Given the description of an element on the screen output the (x, y) to click on. 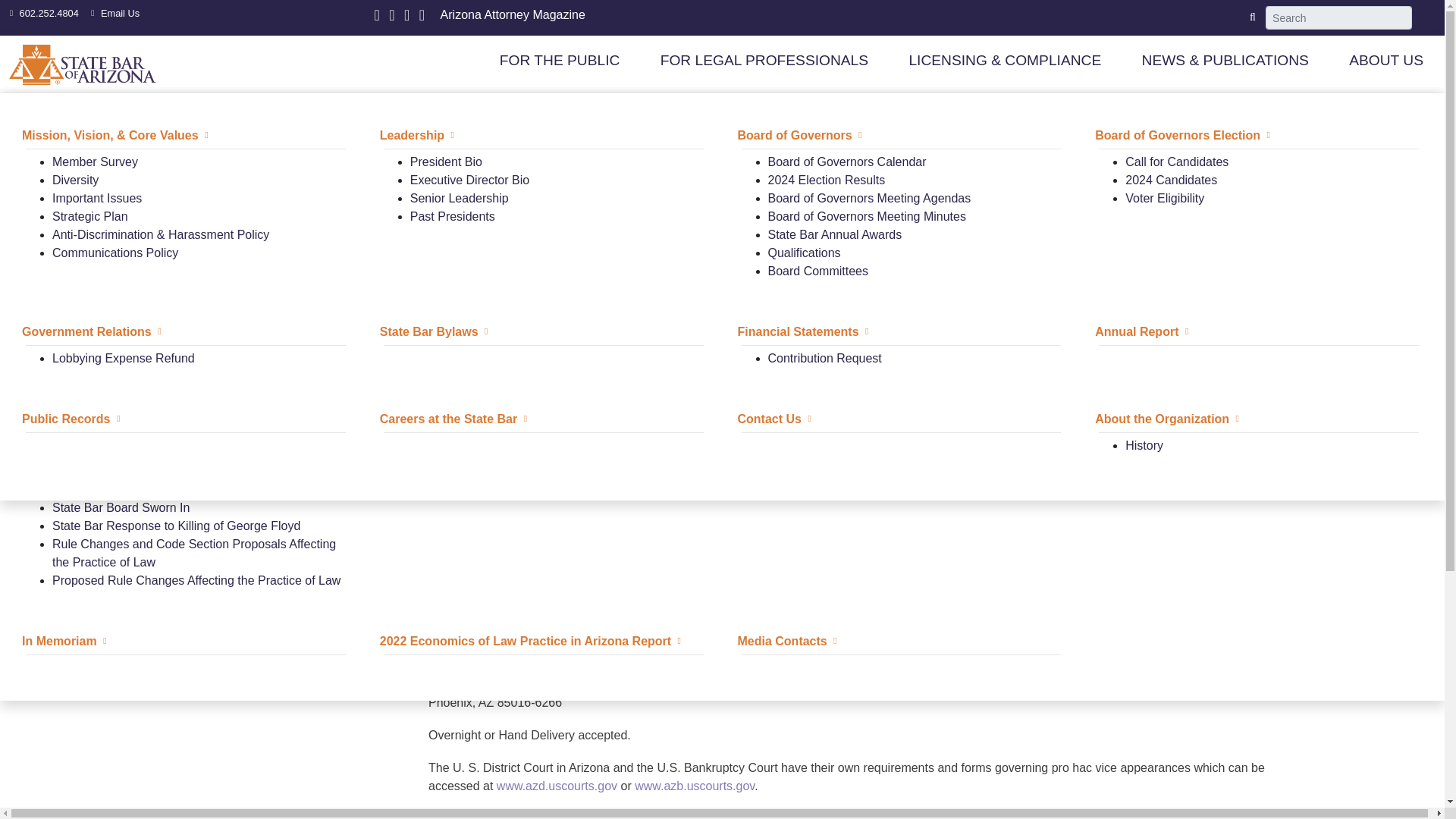
Check Lawyer Discipline (475, 161)
Public Meetings Policy (827, 161)
Modest Means (92, 215)
Public Service Center (88, 134)
FAQs (67, 307)
Client Protection Fund (1164, 134)
Arizona Attorney Magazine (513, 14)
Public Meetings Calendar (836, 197)
Charge Form (445, 215)
Video Law Library (100, 161)
